Given the description of an element on the screen output the (x, y) to click on. 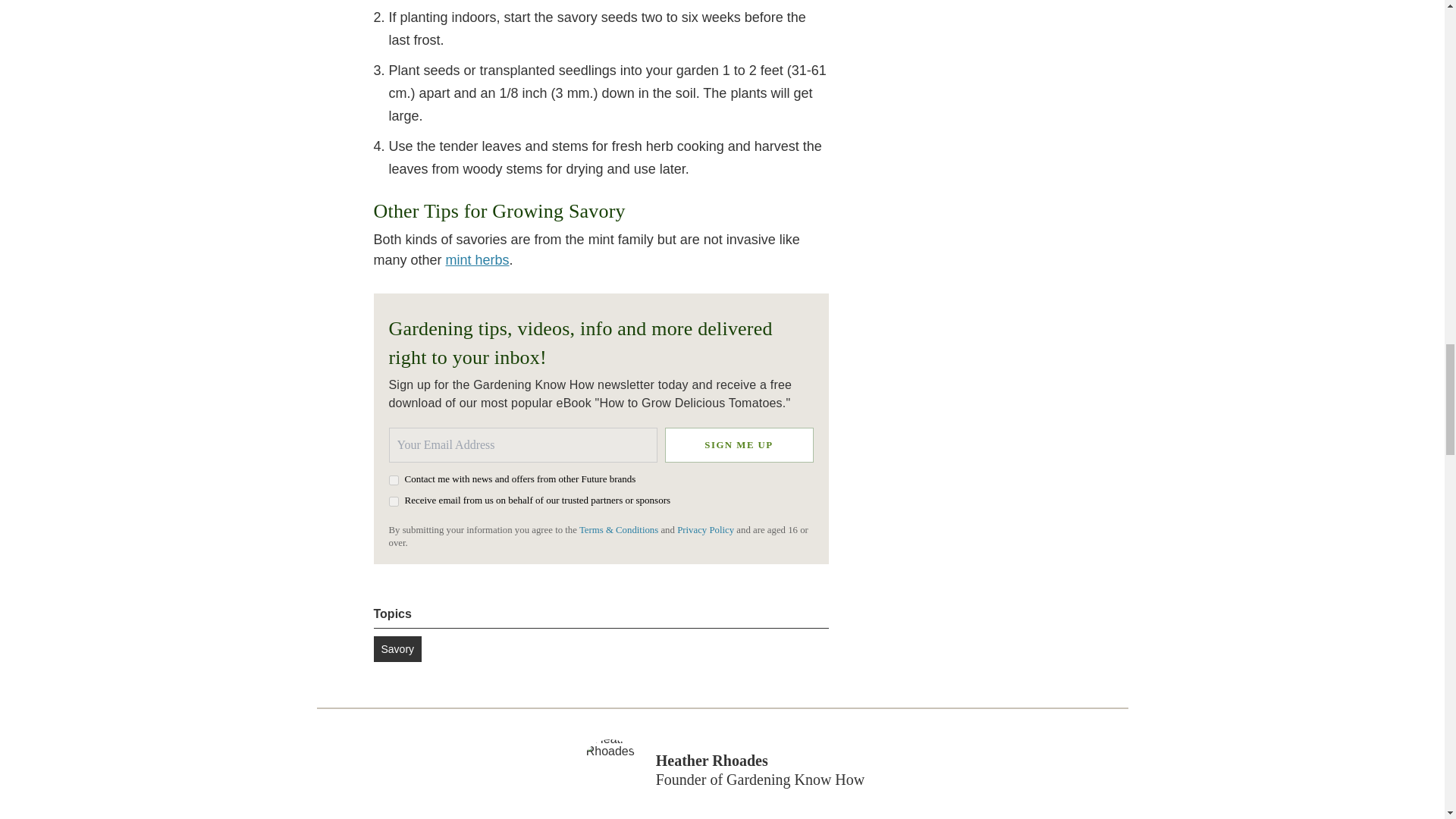
on (392, 501)
Sign me up (737, 444)
on (392, 480)
